Given the description of an element on the screen output the (x, y) to click on. 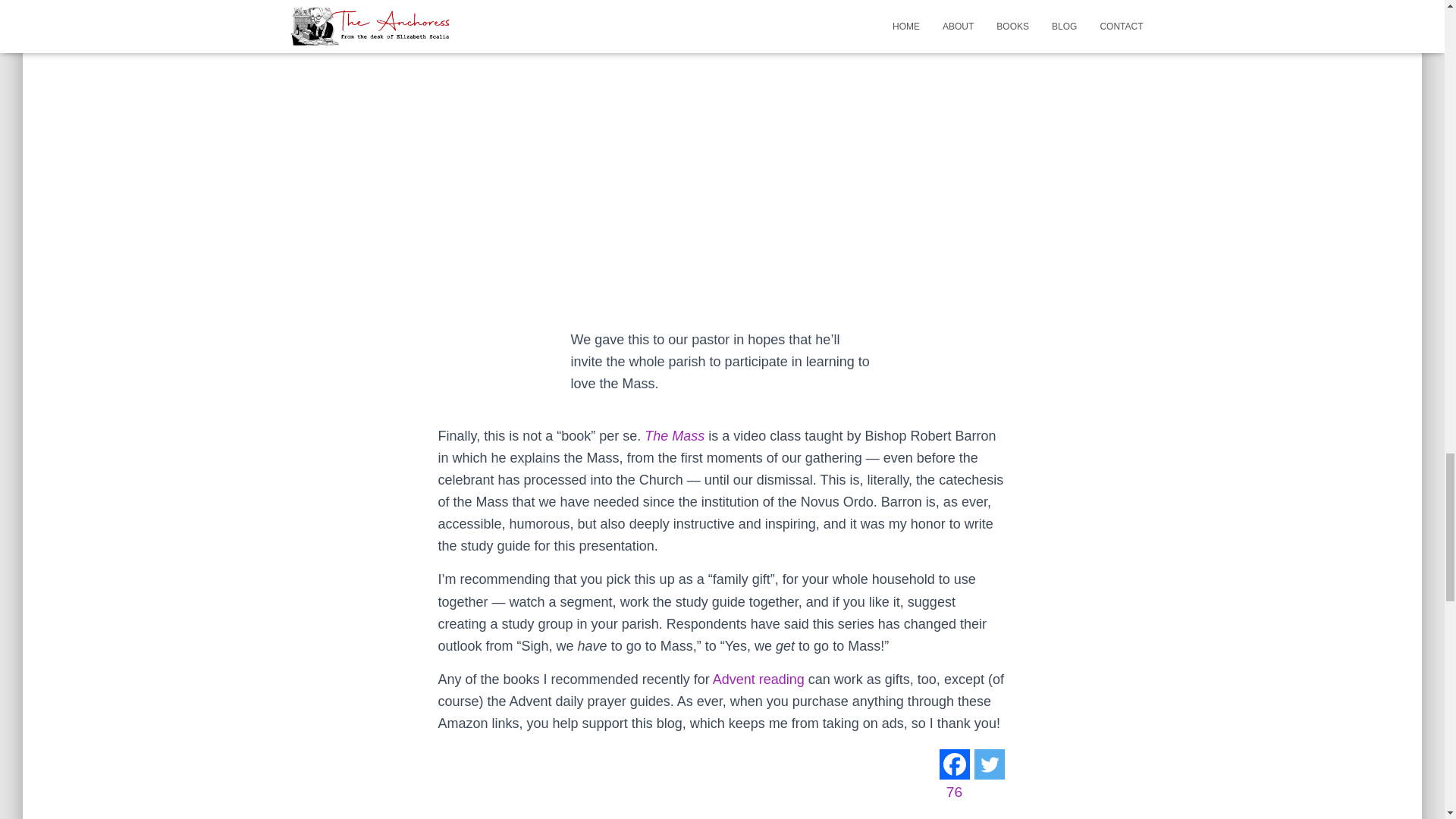
Advent reading (759, 679)
The Mass (674, 435)
Twitter (990, 764)
